Given the description of an element on the screen output the (x, y) to click on. 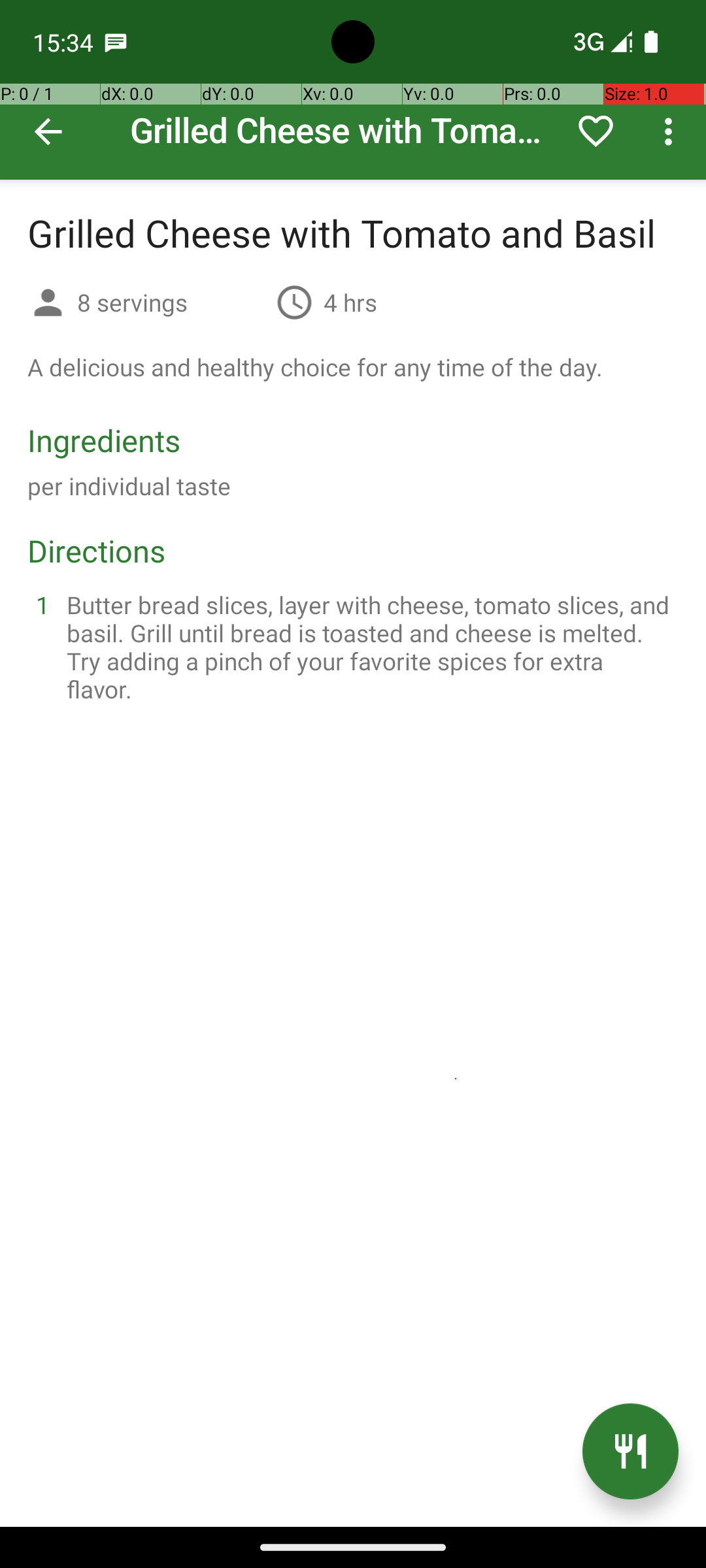
Grilled Cheese with Tomato and Basil Element type: android.widget.FrameLayout (353, 89)
8 servings Element type: android.widget.TextView (170, 301)
4 hrs Element type: android.widget.TextView (350, 301)
per individual taste Element type: android.widget.TextView (128, 485)
Butter bread slices, layer with cheese, tomato slices, and basil. Grill until bread is toasted and cheese is melted. Try adding a pinch of your favorite spices for extra flavor. Element type: android.widget.TextView (368, 646)
